Given the description of an element on the screen output the (x, y) to click on. 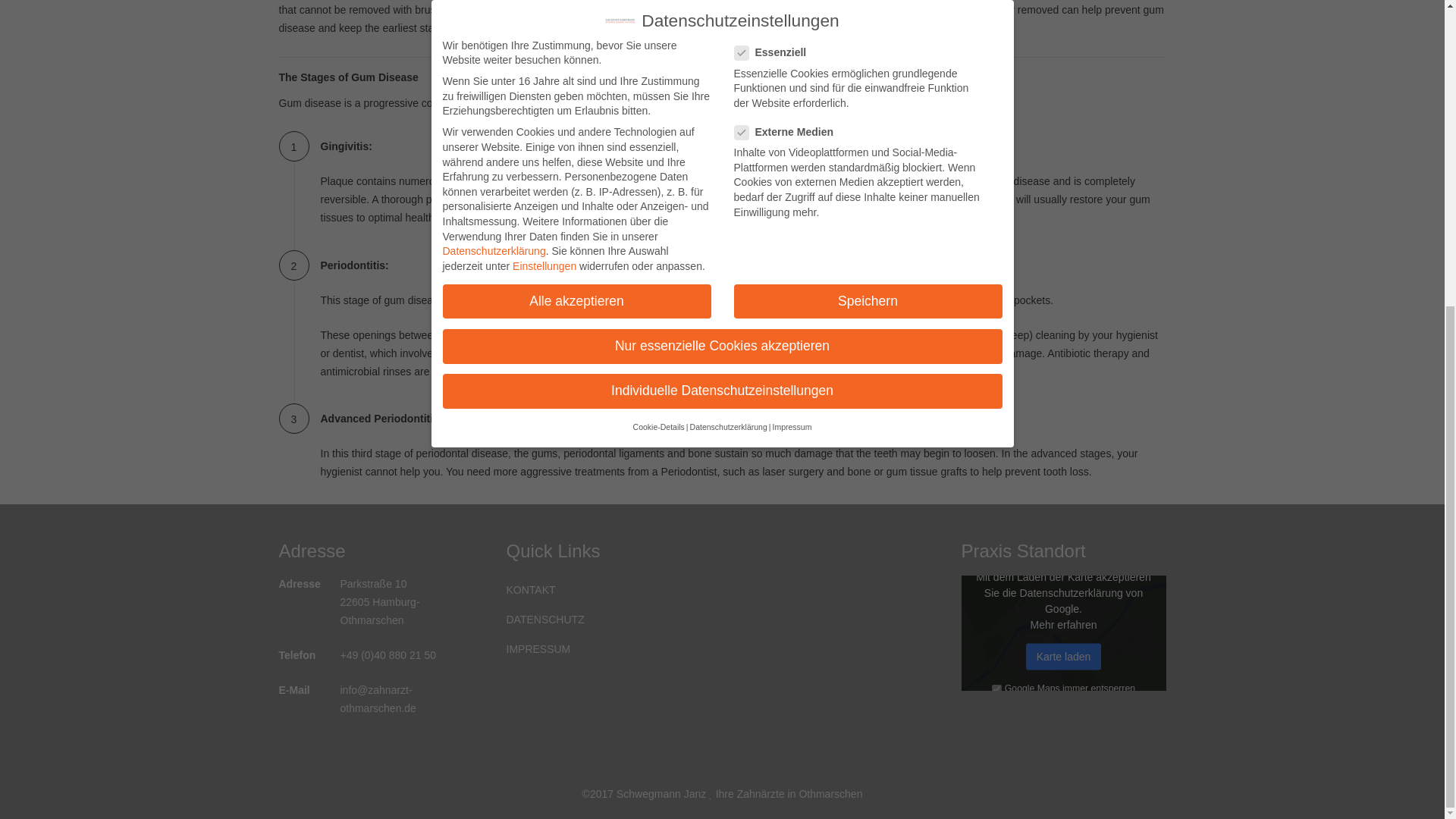
IMPRESSUM (608, 649)
1 (996, 688)
control the infection (632, 371)
DATENSCHUTZ (608, 619)
Mehr erfahren (1063, 623)
KONTAKT (608, 590)
Karte laden (1064, 655)
